Given the description of an element on the screen output the (x, y) to click on. 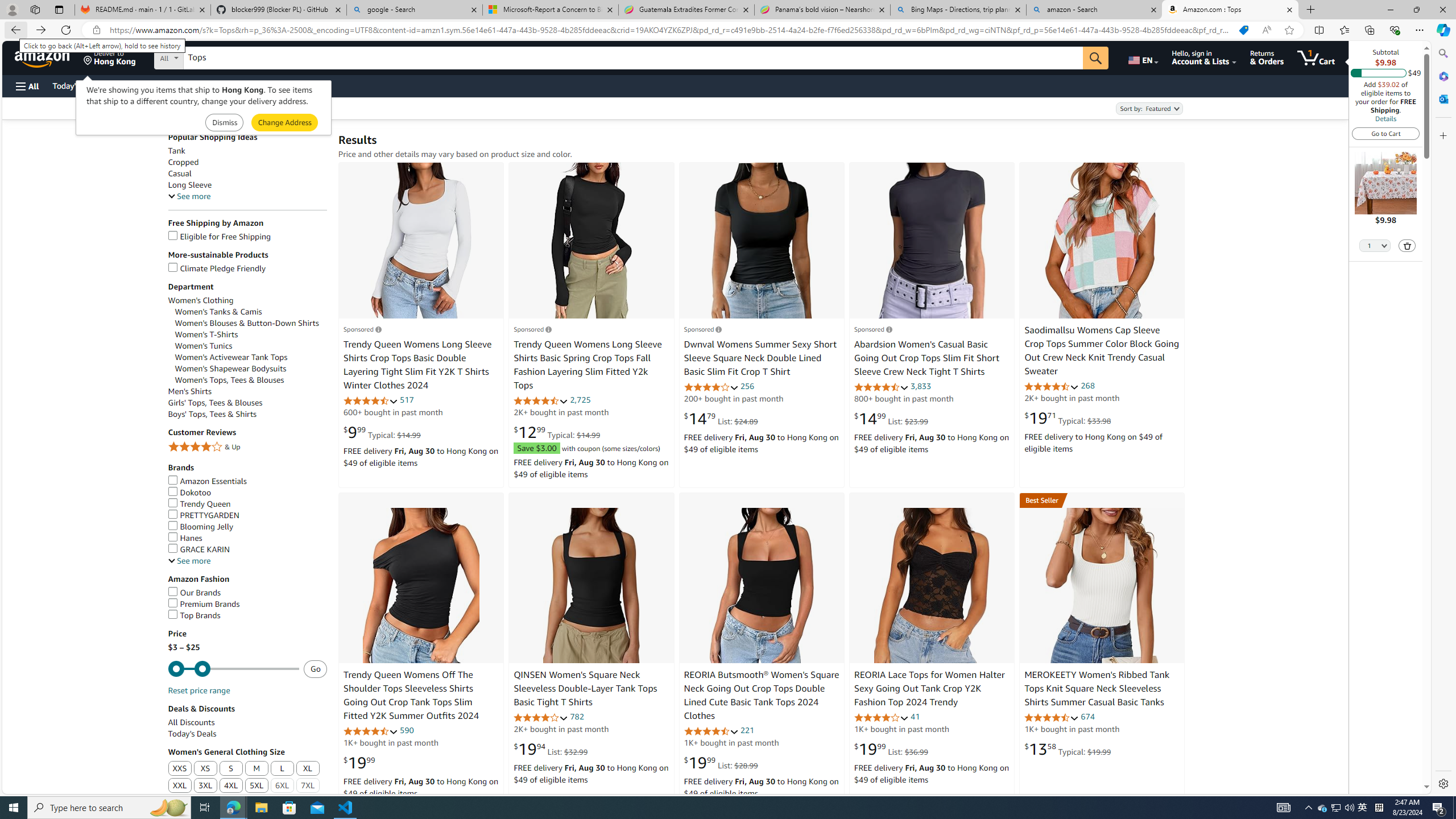
GRACE KARIN (247, 549)
674 (1087, 716)
Cropped (247, 162)
XXL (179, 785)
4.2 out of 5 stars (541, 717)
Maximum (233, 668)
Long Sleeve (189, 184)
Long Sleeve (247, 185)
